Given the description of an element on the screen output the (x, y) to click on. 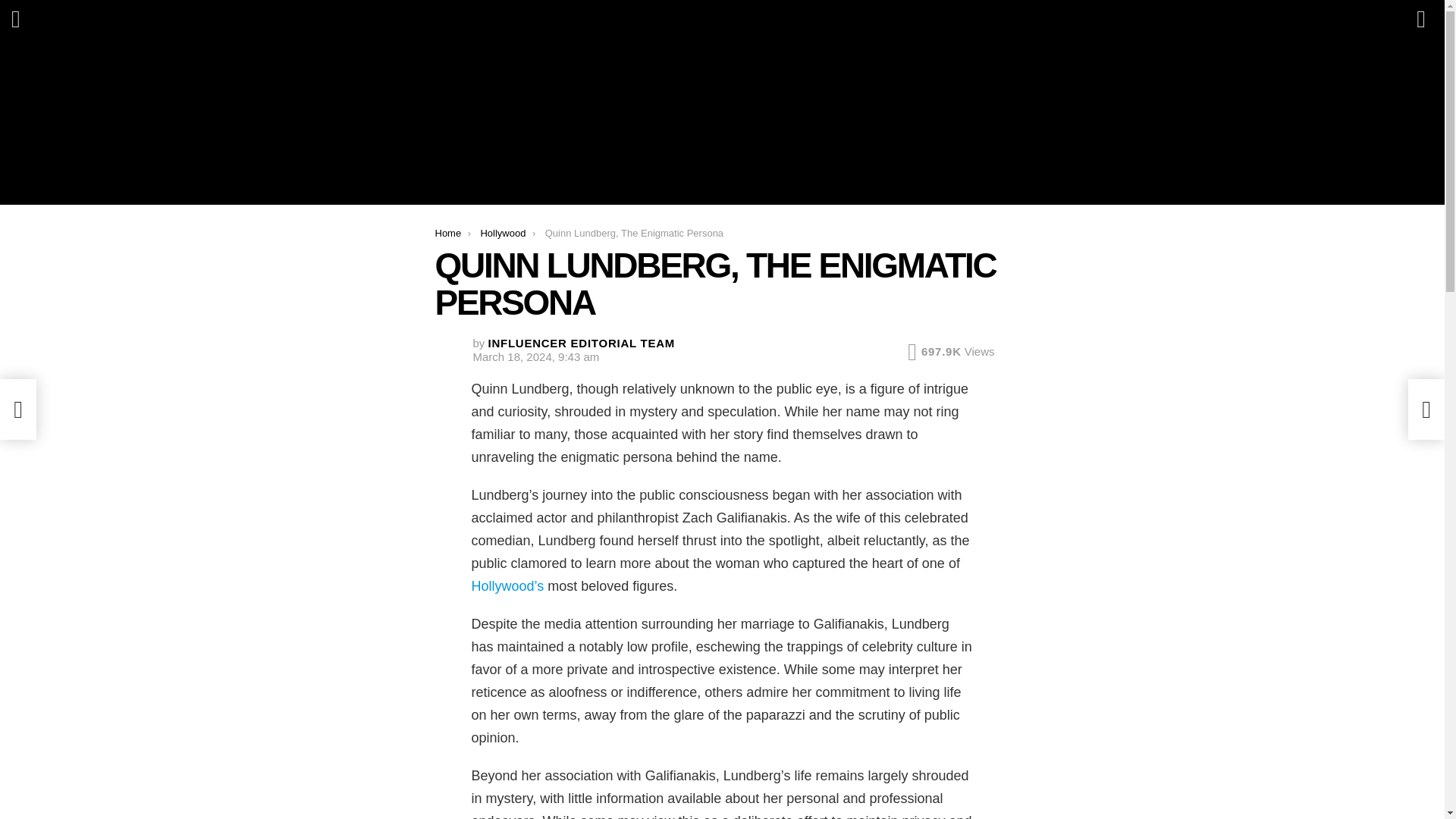
INFLUENCER EDITORIAL TEAM (581, 342)
Posts by Influencer Editorial Team (581, 342)
Home (448, 233)
Hollywood (502, 233)
